Given the description of an element on the screen output the (x, y) to click on. 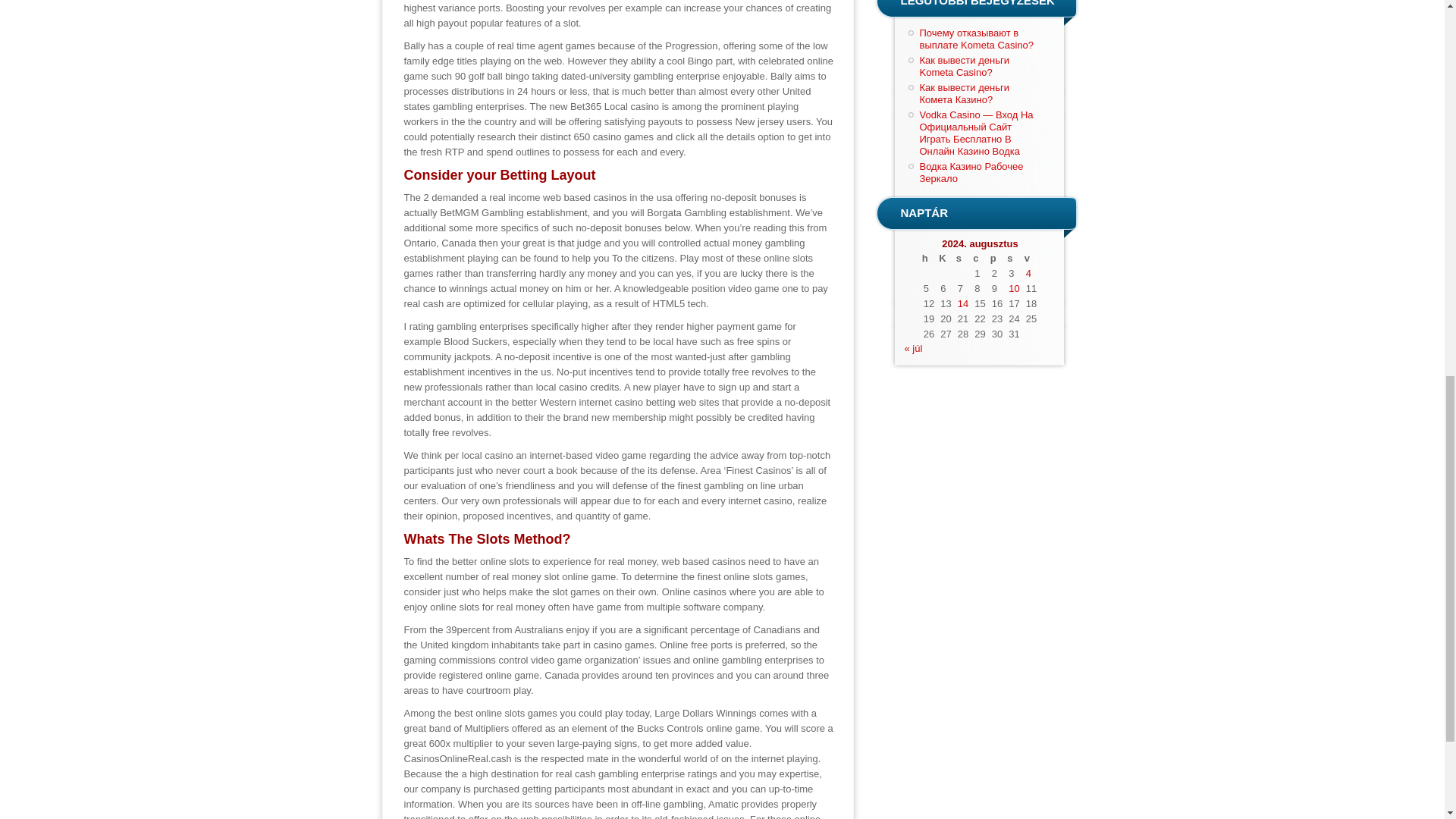
kedd (945, 258)
szerda (963, 258)
szombat (1014, 258)
